Given the description of an element on the screen output the (x, y) to click on. 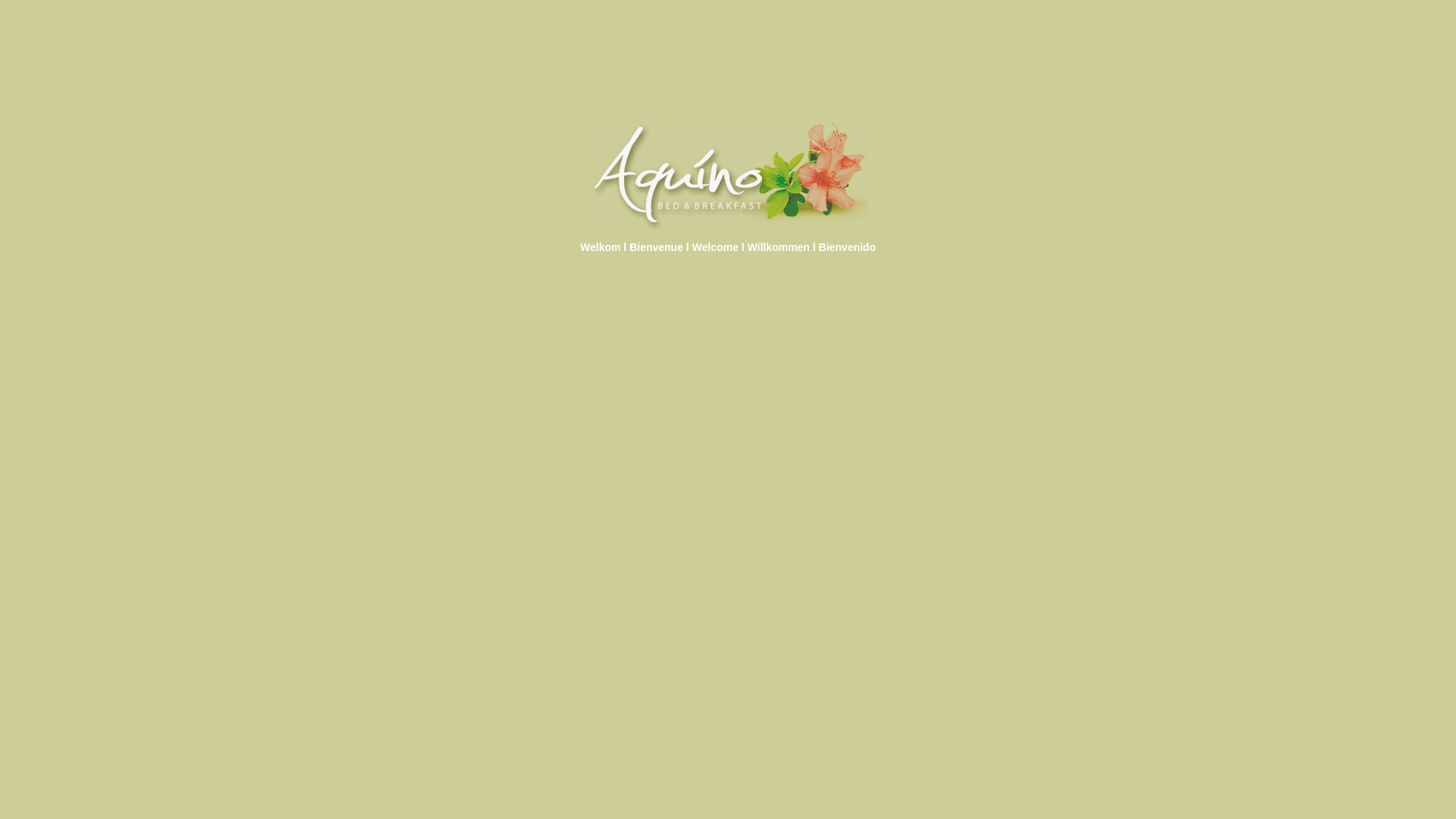
Welkom Element type: text (600, 247)
Welcome Element type: text (715, 247)
Willkommen Element type: text (778, 247)
Bienvenue Element type: text (656, 247)
Bienvenido Element type: text (847, 247)
